Given the description of an element on the screen output the (x, y) to click on. 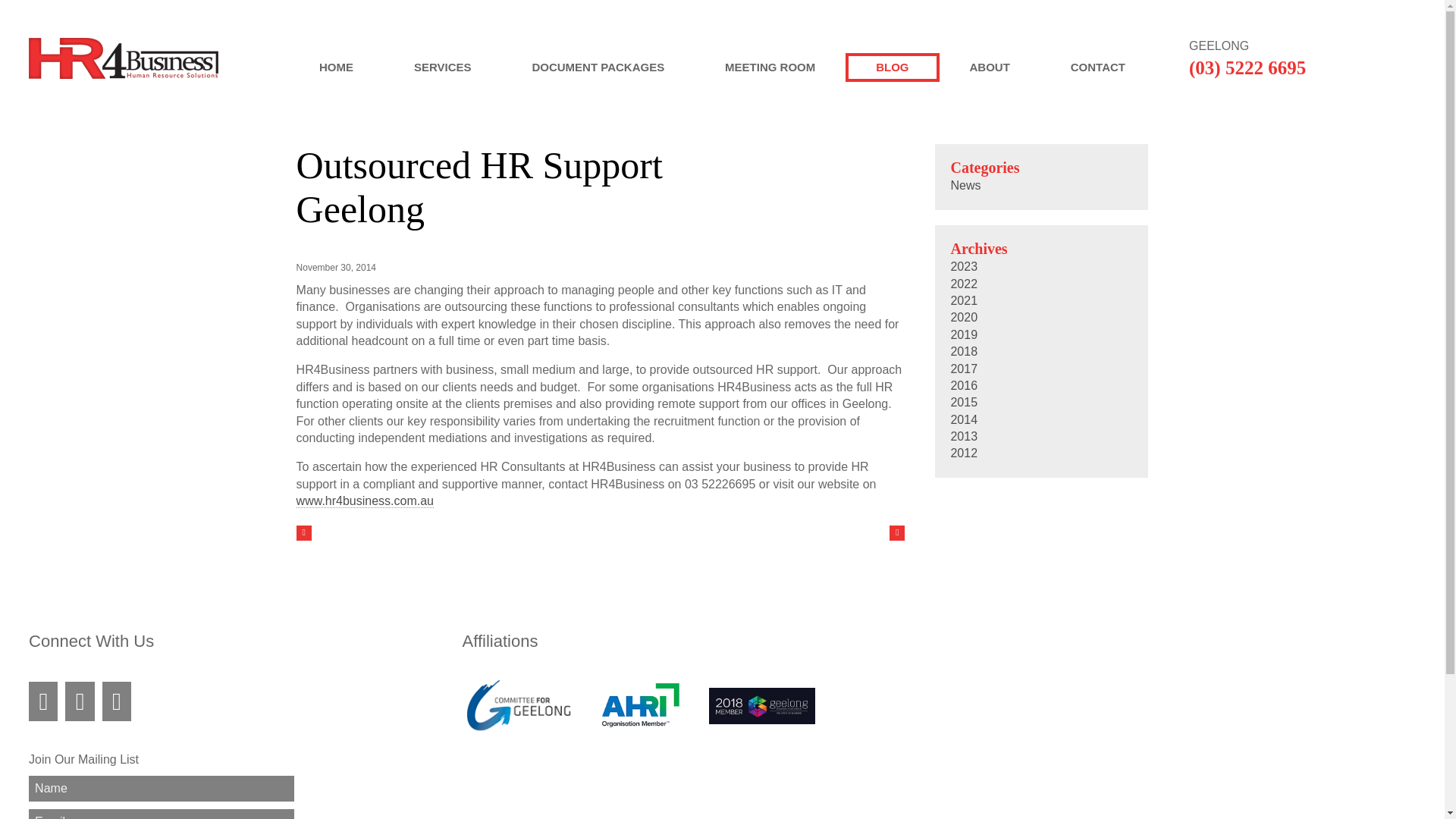
SERVICES (443, 67)
DOCUMENT PACKAGES (597, 67)
HOME (336, 67)
